Given the description of an element on the screen output the (x, y) to click on. 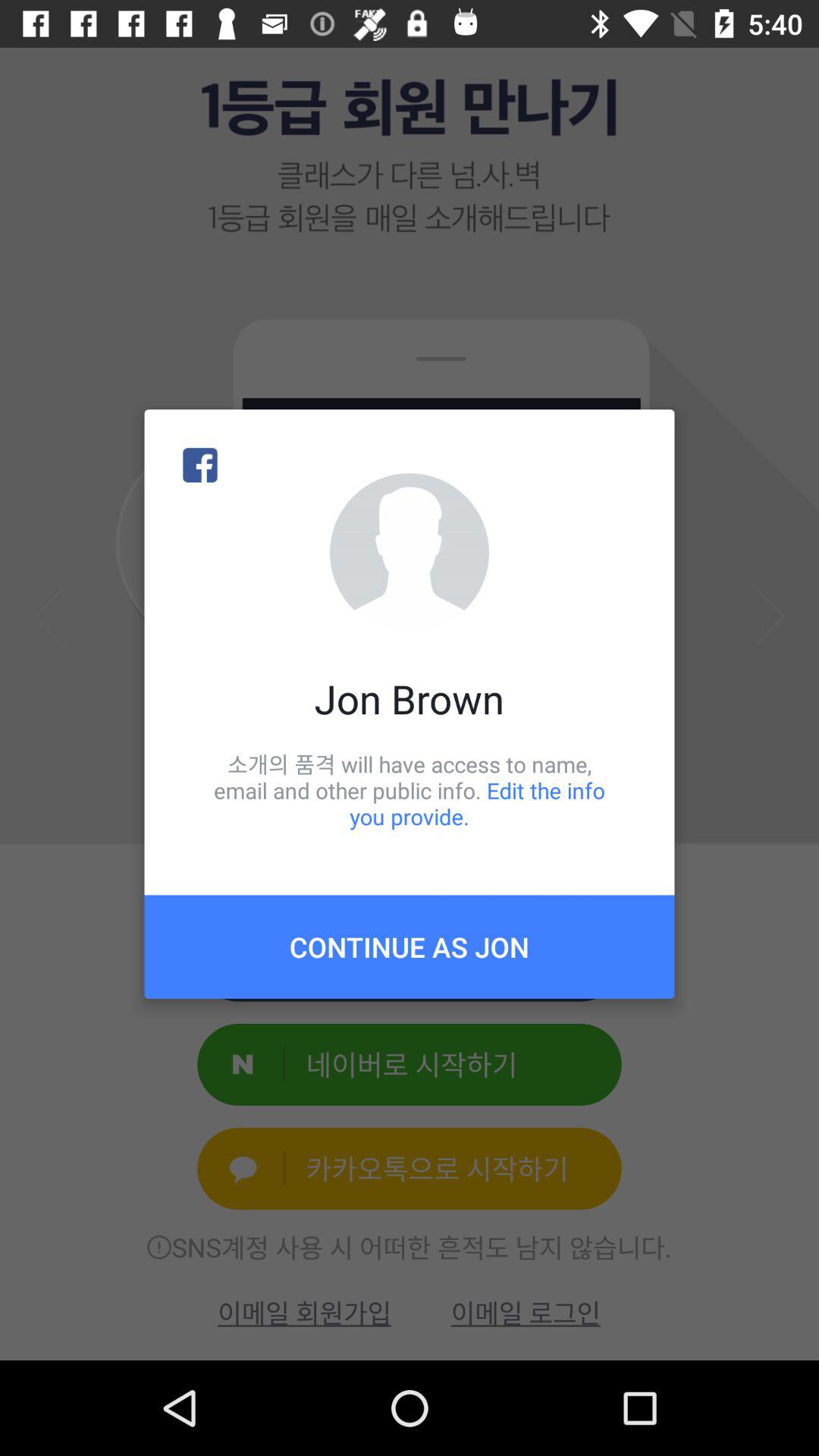
select the continue as jon (409, 946)
